Given the description of an element on the screen output the (x, y) to click on. 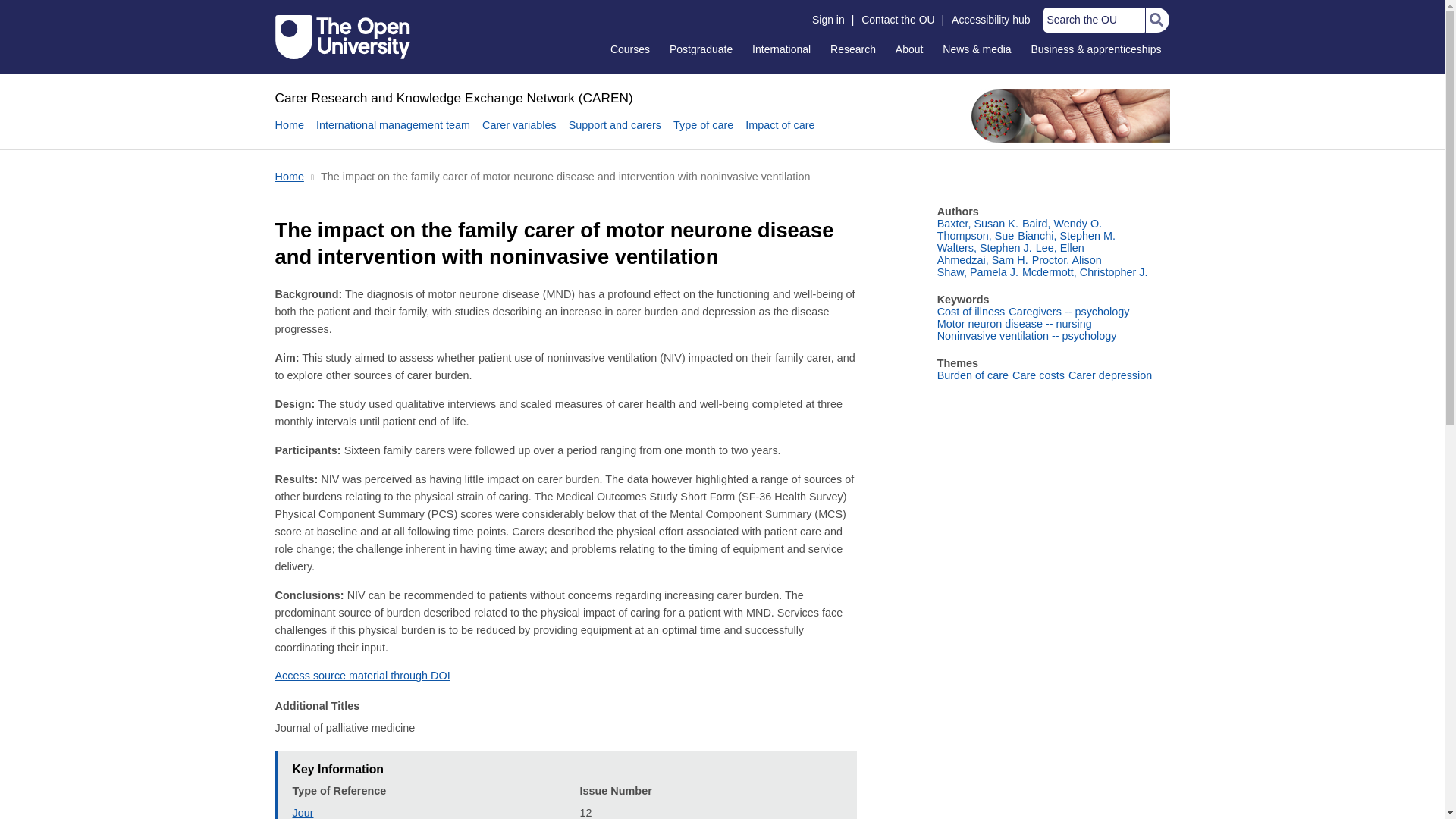
Support and carers (615, 133)
About (908, 49)
The Open University (342, 36)
Search (1156, 19)
Research (852, 49)
Contact the OU (898, 19)
Accessibility hub (990, 19)
Postgraduate (701, 49)
Sign in (828, 19)
International (781, 49)
Home (453, 97)
Search (1156, 19)
Type of care (702, 133)
Carer variables (518, 133)
